Given the description of an element on the screen output the (x, y) to click on. 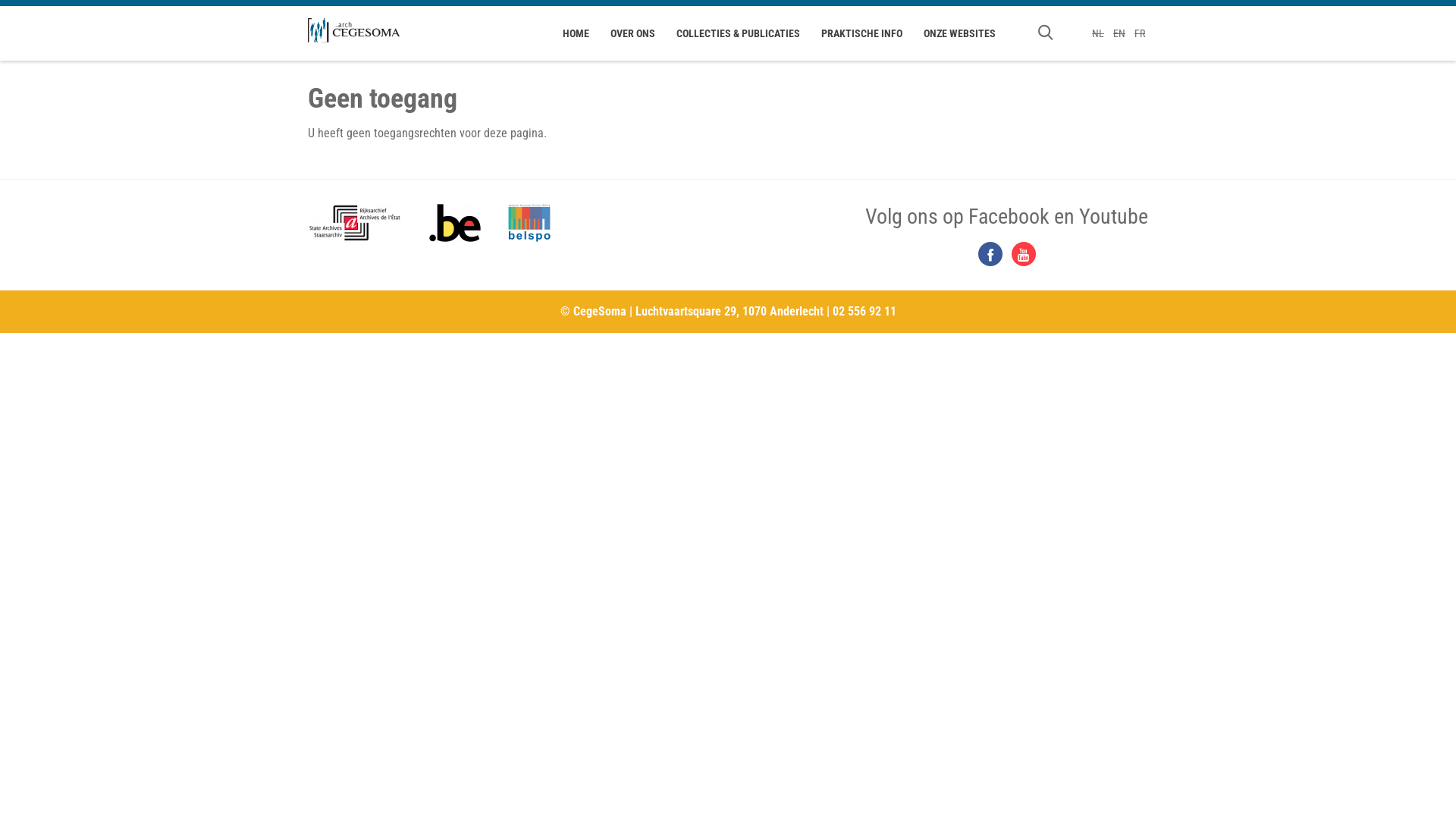
Belgium.be  Element type: hover (454, 222)
Overslaan en naar de inhoud gaan Element type: text (84, 0)
Home Element type: hover (353, 30)
Zoeken Element type: text (562, 440)
HOME Element type: text (575, 33)
